Given the description of an element on the screen output the (x, y) to click on. 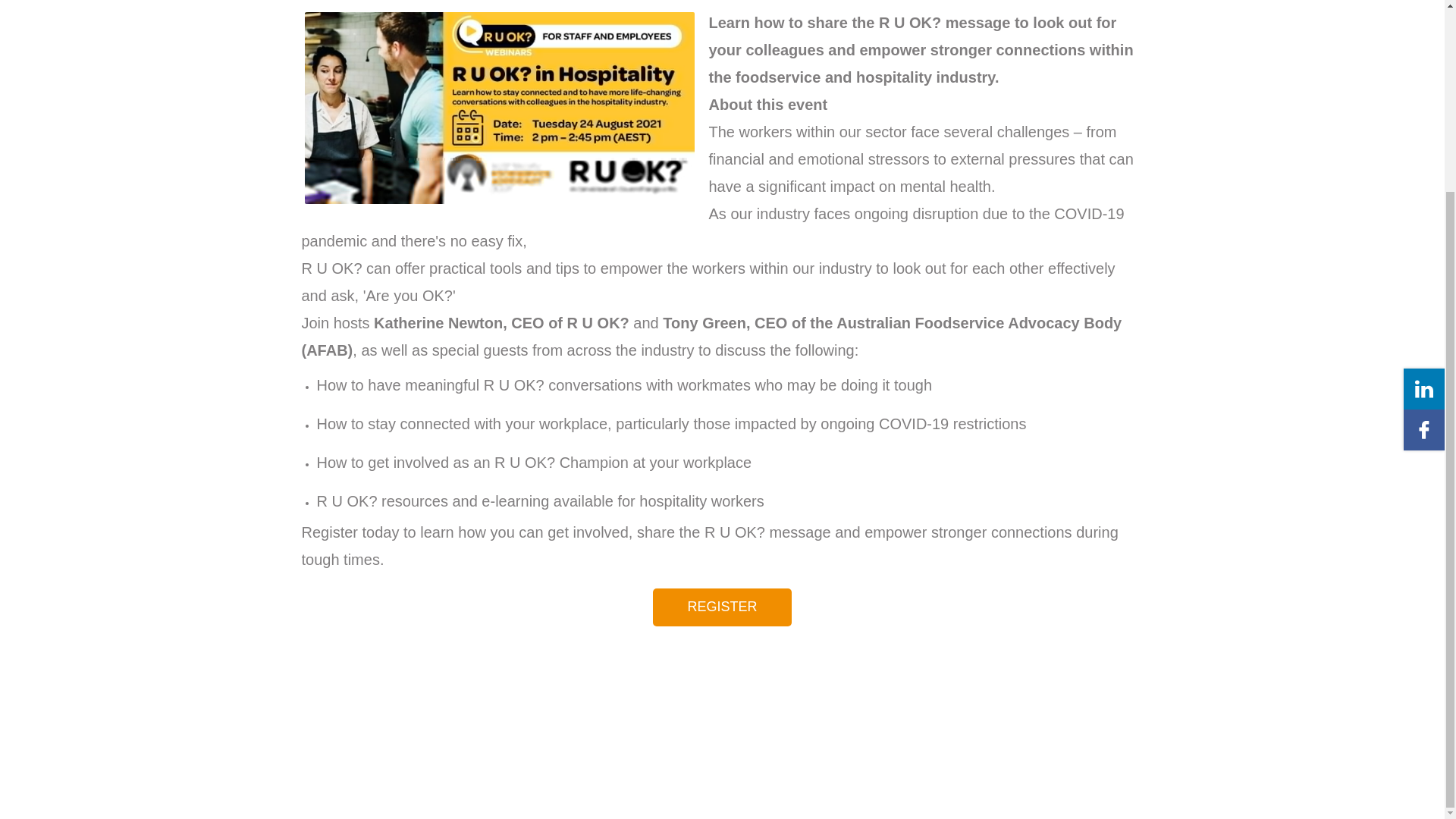
REGISTER (721, 607)
